Given the description of an element on the screen output the (x, y) to click on. 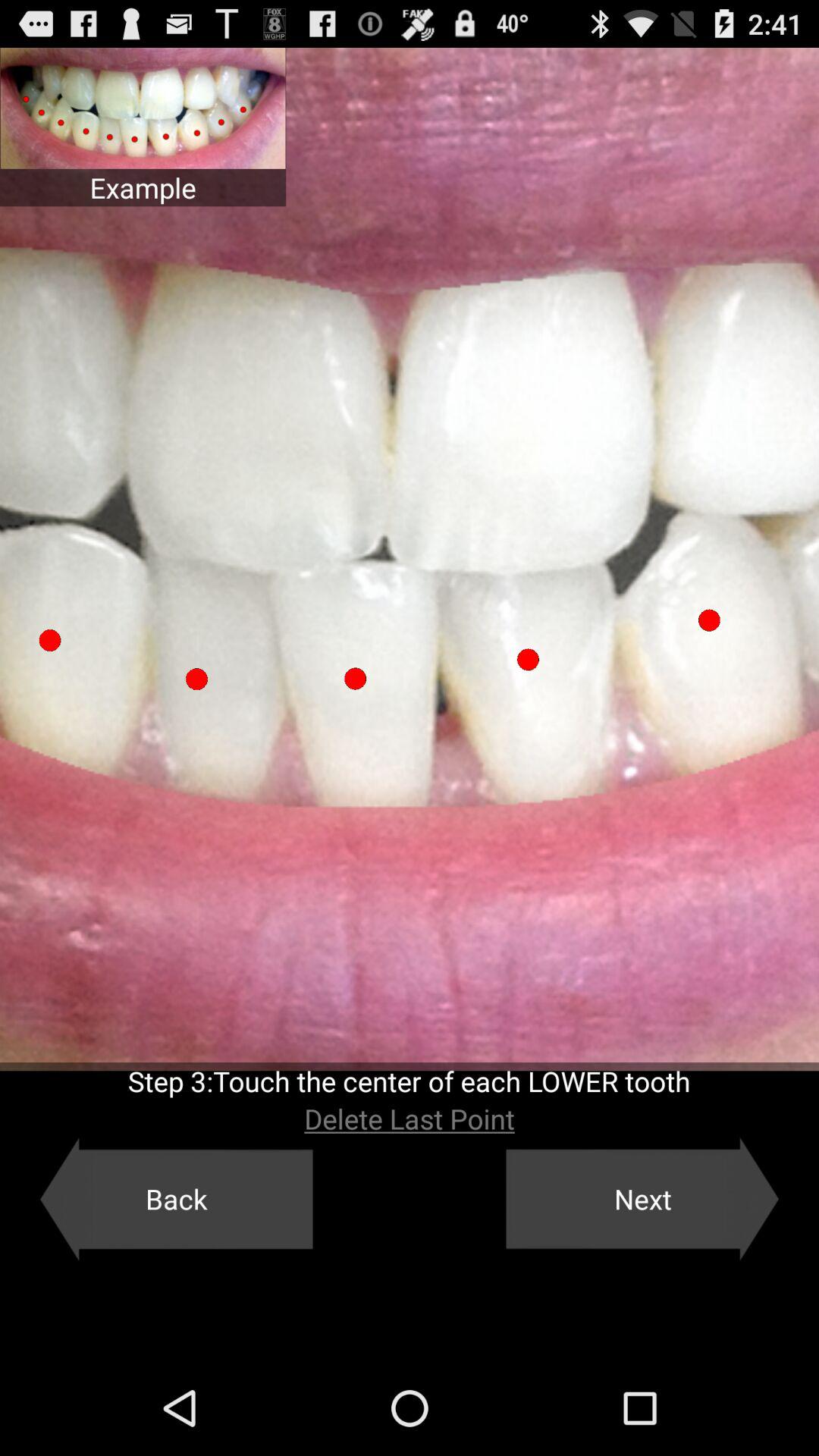
turn on the icon at the bottom left corner (175, 1198)
